Given the description of an element on the screen output the (x, y) to click on. 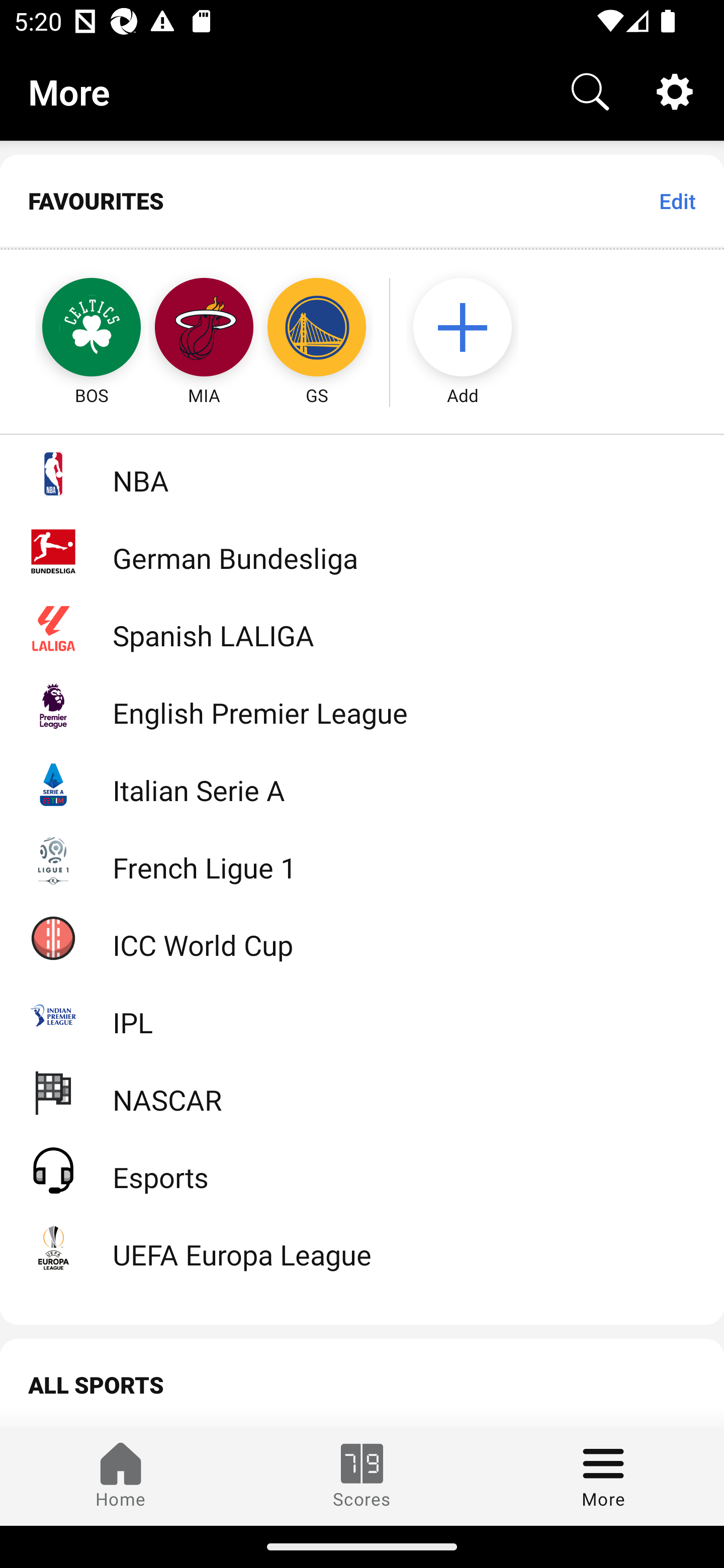
Search (590, 90)
Settings (674, 90)
Edit (676, 200)
BOS Boston Celtics (73, 328)
MIA Miami Heat (203, 328)
GS Golden State Warriors (316, 328)
 Add (471, 328)
NBA (362, 473)
German Bundesliga (362, 550)
Spanish LALIGA (362, 627)
English Premier League (362, 705)
Italian Serie A (362, 782)
French Ligue 1 (362, 859)
ICC World Cup (362, 937)
IPL (362, 1014)
NASCAR (362, 1091)
Esports (362, 1169)
UEFA Europa League (362, 1246)
Home (120, 1475)
Scores (361, 1475)
